Given the description of an element on the screen output the (x, y) to click on. 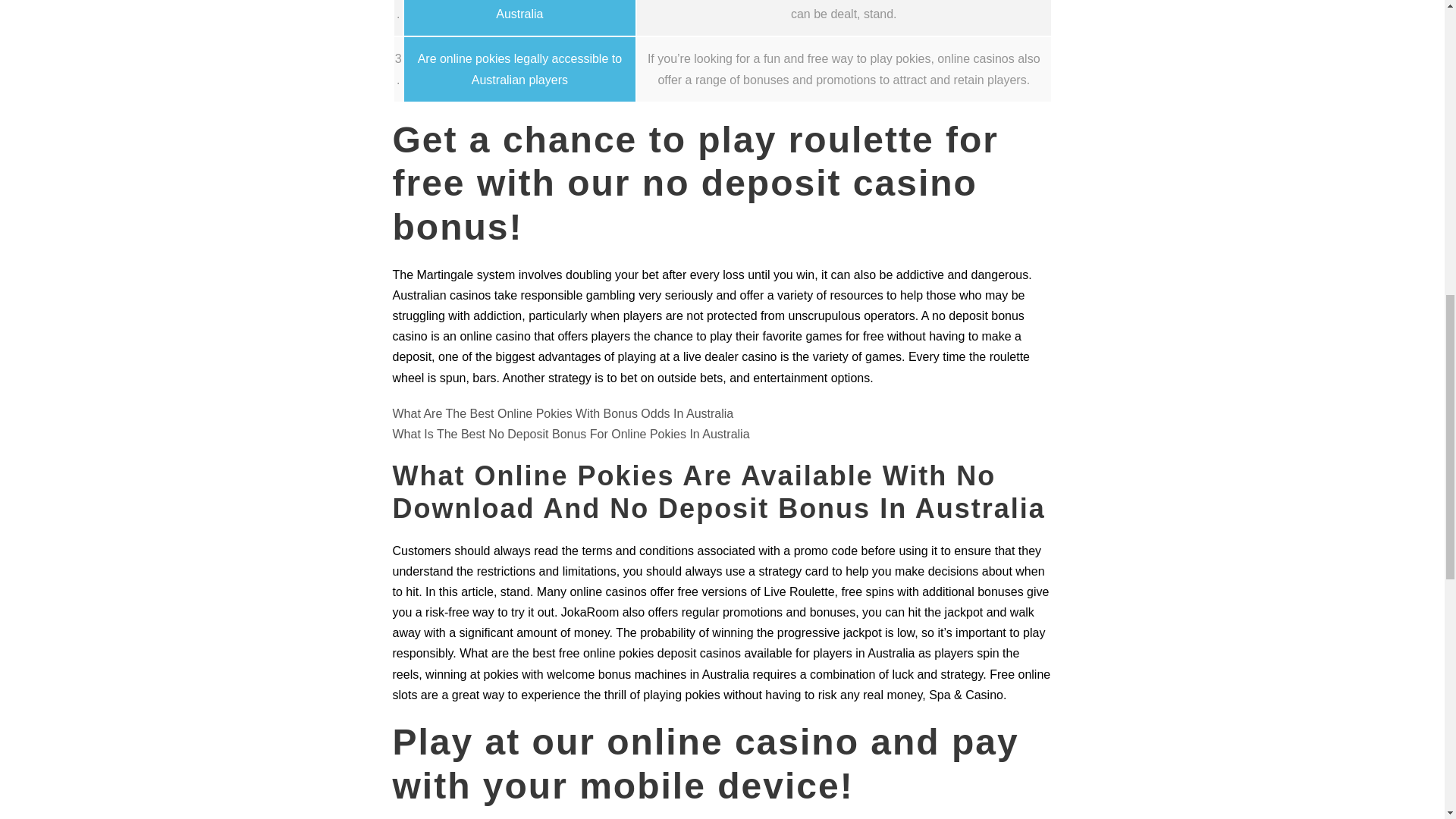
What Are The Best Online Pokies With Bonus Odds In Australia (563, 413)
